Given the description of an element on the screen output the (x, y) to click on. 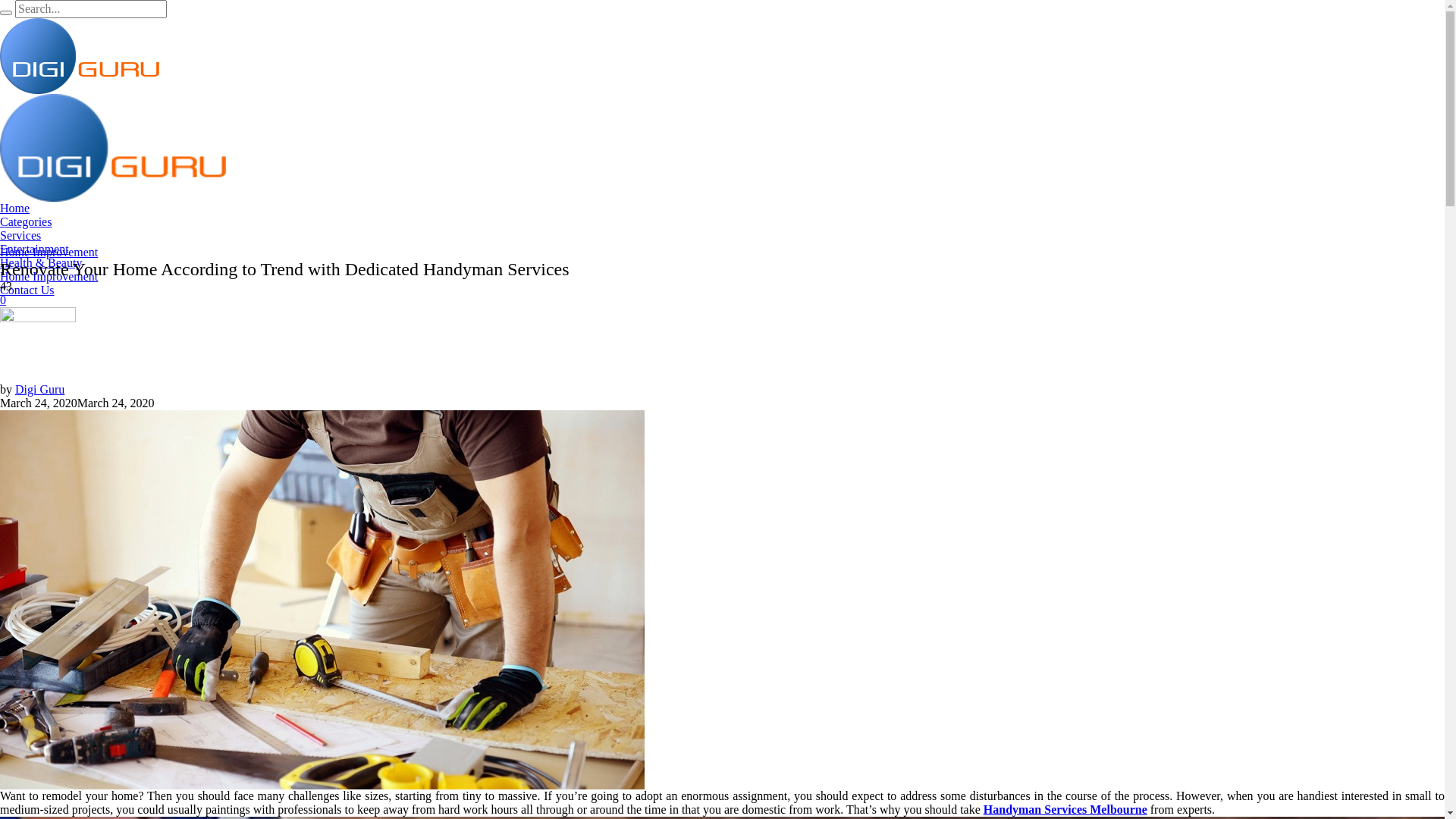
Entertainment Element type: text (34, 248)
Home Improvement Element type: text (48, 275)
Home Element type: text (14, 207)
Services Element type: text (20, 235)
Handyman Services Melbourne Element type: hover (322, 599)
0 Element type: text (3, 299)
Digi Guru Element type: text (39, 388)
Digital Guru Element type: hover (112, 100)
Contact Us Element type: text (27, 289)
Categories Element type: text (25, 221)
Home Improvement Element type: text (48, 251)
Handyman Services Melbourne Element type: text (1065, 809)
Health & Beauty Element type: text (40, 262)
